Given the description of an element on the screen output the (x, y) to click on. 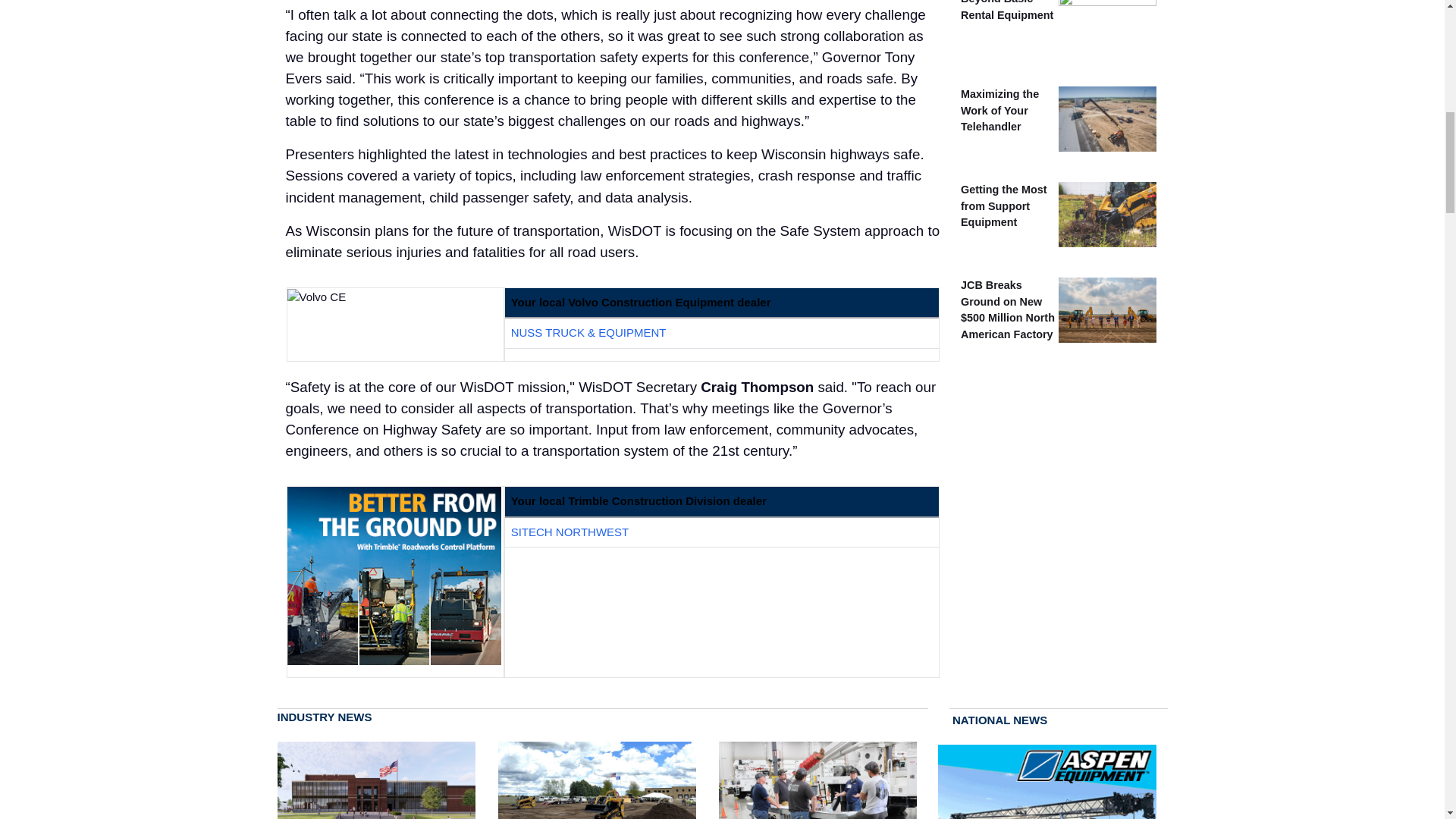
INDUSTRY NEWS (603, 717)
Maximizing the Work of Your Telehandler (999, 109)
Beyond Basic Rental Equipment (1006, 10)
Getting the Most from Support Equipment (1003, 205)
SITECH NORTHWEST (569, 531)
